Given the description of an element on the screen output the (x, y) to click on. 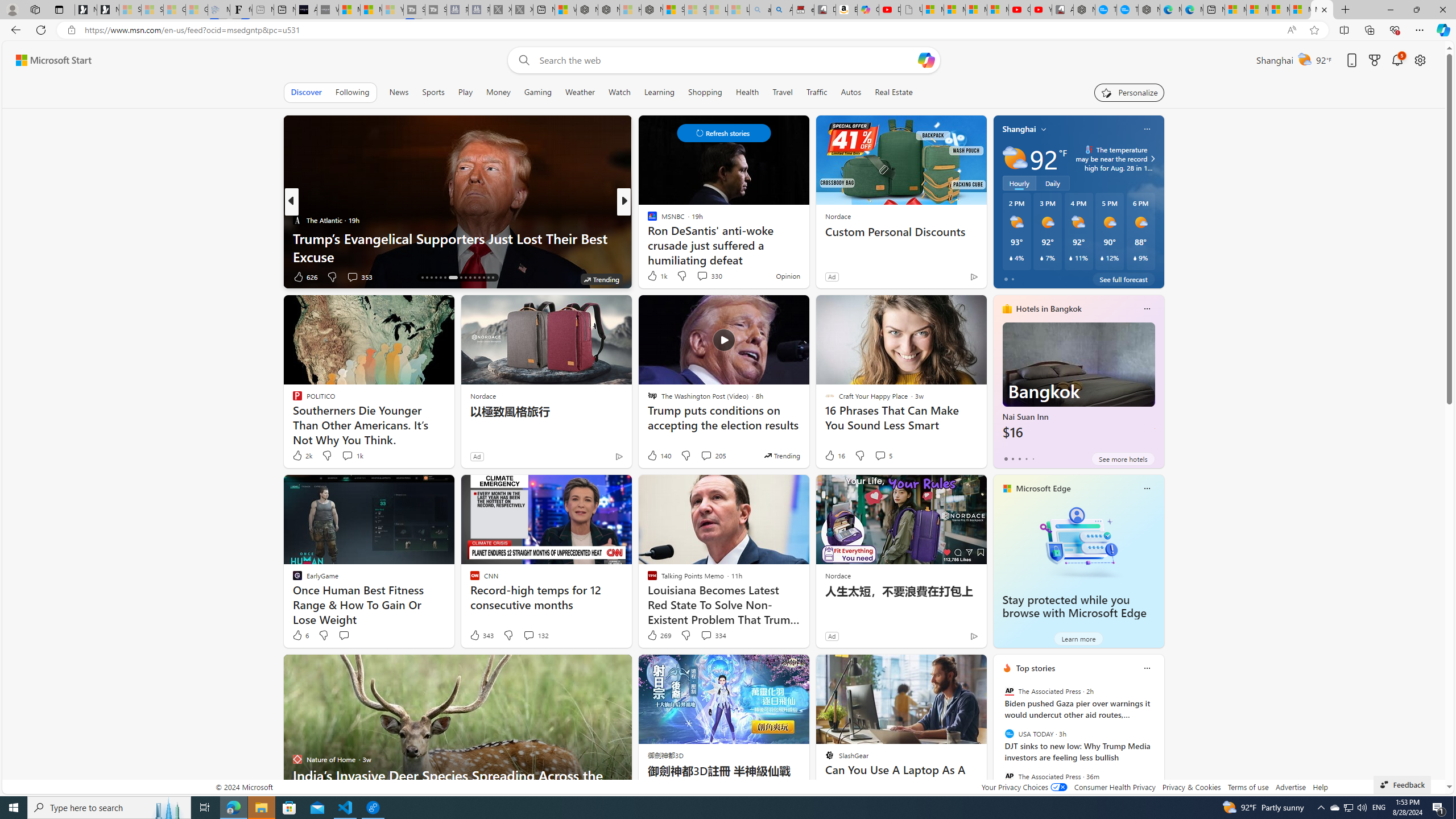
Hourly (1018, 183)
Personalize your feed" (1129, 92)
Day 1: Arriving in Yemen (surreal to be here) - YouTube (889, 9)
44 Like (652, 276)
Microsoft rewards (1374, 60)
News (398, 92)
View comments 1 Comment (698, 276)
AutomationID: tab-21 (444, 277)
AutomationID: tab-18 (431, 277)
See full forecast (1123, 278)
USA TODAY (1008, 733)
The Atlantic (296, 219)
